Given the description of an element on the screen output the (x, y) to click on. 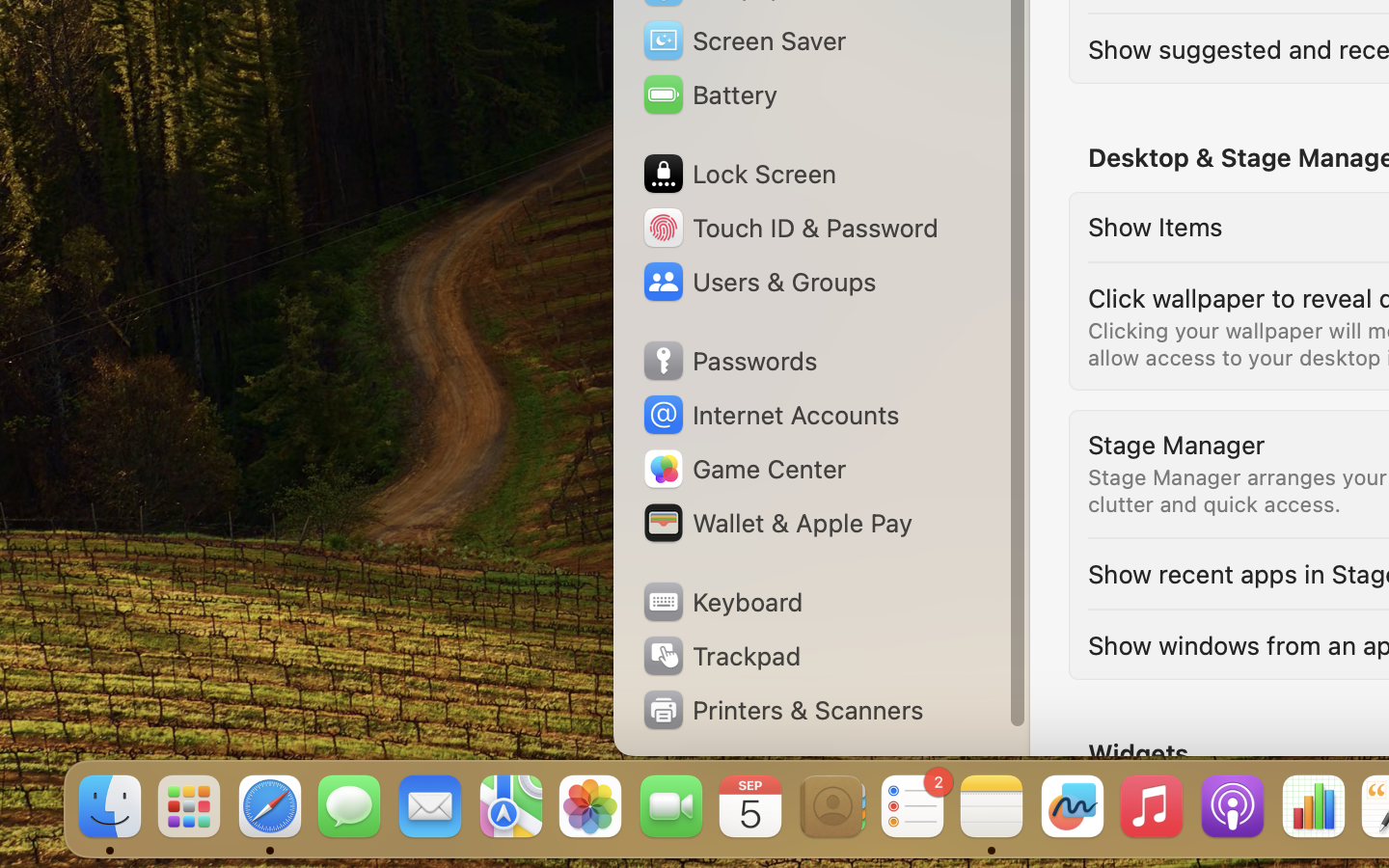
Trackpad Element type: AXStaticText (720, 655)
Lock Screen Element type: AXStaticText (738, 173)
Show Items Element type: AXStaticText (1155, 225)
Stage Manager Element type: AXStaticText (1176, 443)
